Given the description of an element on the screen output the (x, y) to click on. 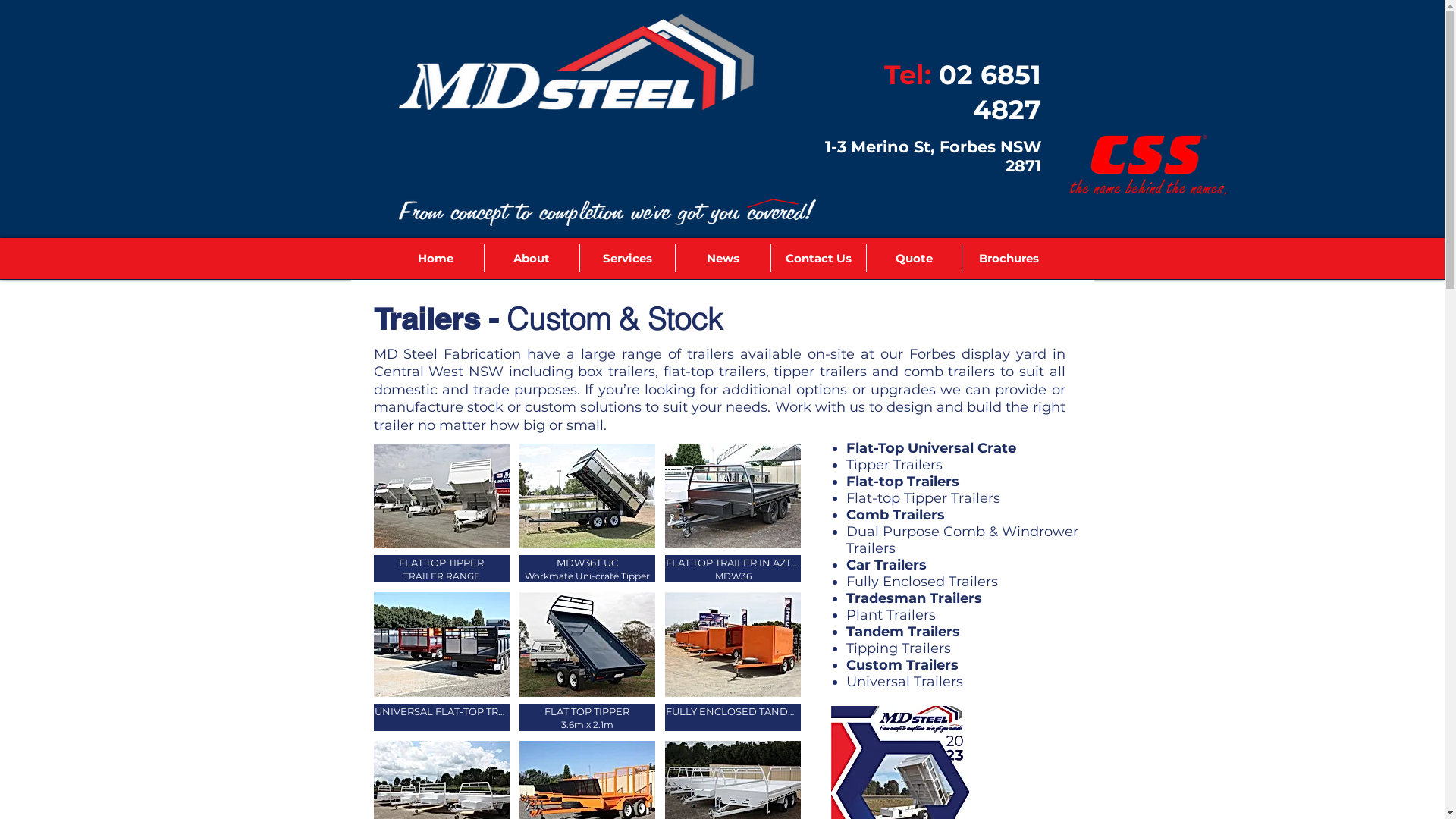
Brochures Element type: text (1008, 258)
About Element type: text (531, 258)
Contact Us Element type: text (818, 258)
Quote Element type: text (913, 258)
News Element type: text (722, 258)
Services Element type: text (626, 258)
Home Element type: text (435, 258)
Site Search Element type: hover (966, 215)
